Given the description of an element on the screen output the (x, y) to click on. 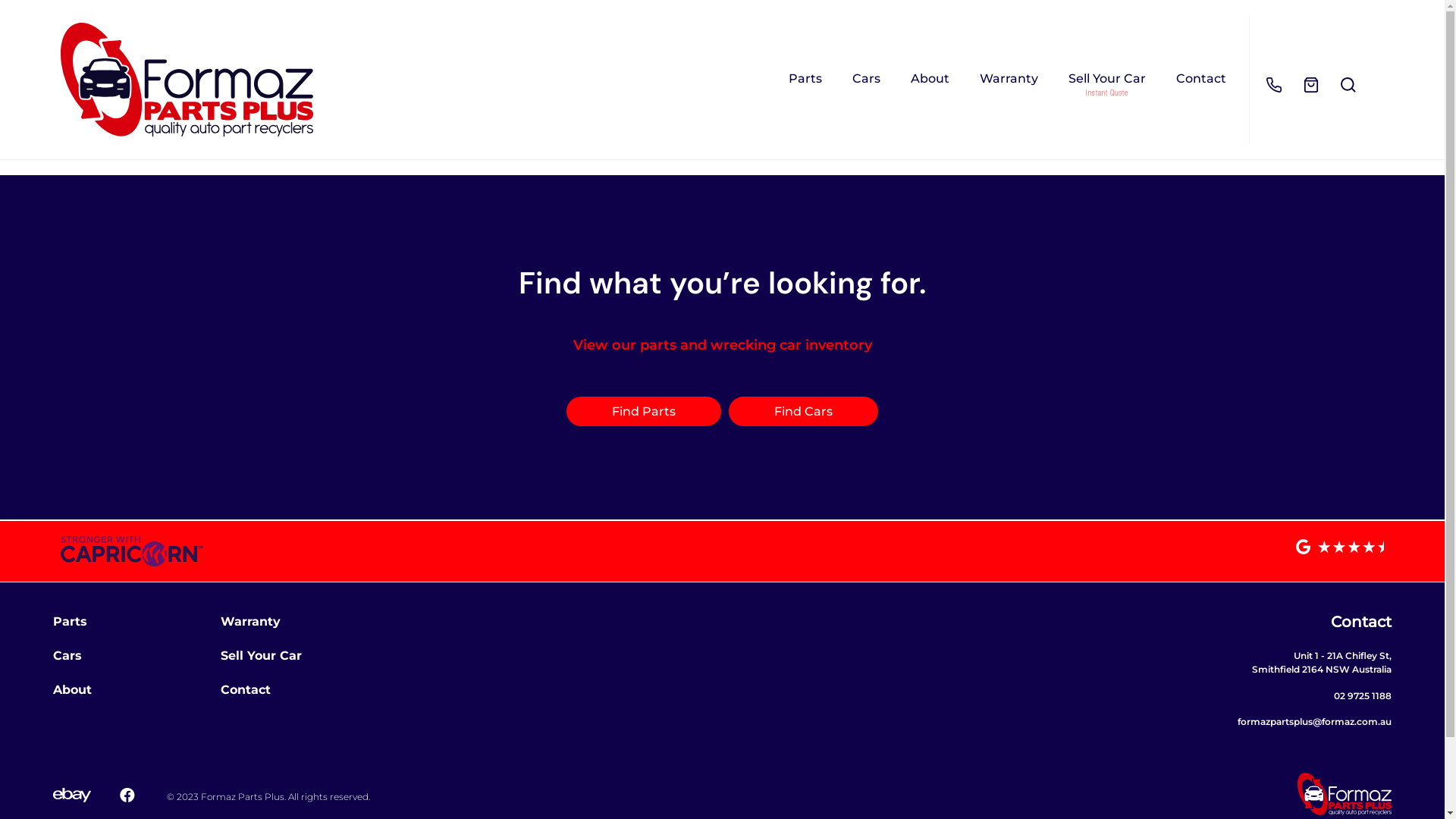
About Element type: text (929, 78)
Cars Element type: text (67, 655)
Parts Element type: text (805, 78)
formazpartsplus@formaz.com.au Element type: text (1314, 721)
Sell Your Car Element type: text (1106, 78)
About Element type: text (72, 689)
02 9725 1188 Element type: text (1362, 695)
Parts Element type: text (70, 621)
Sell Your Car Element type: text (260, 655)
Contact Element type: text (245, 689)
Cars Element type: text (866, 78)
Contact Element type: text (1201, 78)
Warranty Element type: text (1008, 78)
Find Parts Element type: text (643, 411)
Find Cars Element type: text (803, 411)
Warranty Element type: text (250, 621)
